Given the description of an element on the screen output the (x, y) to click on. 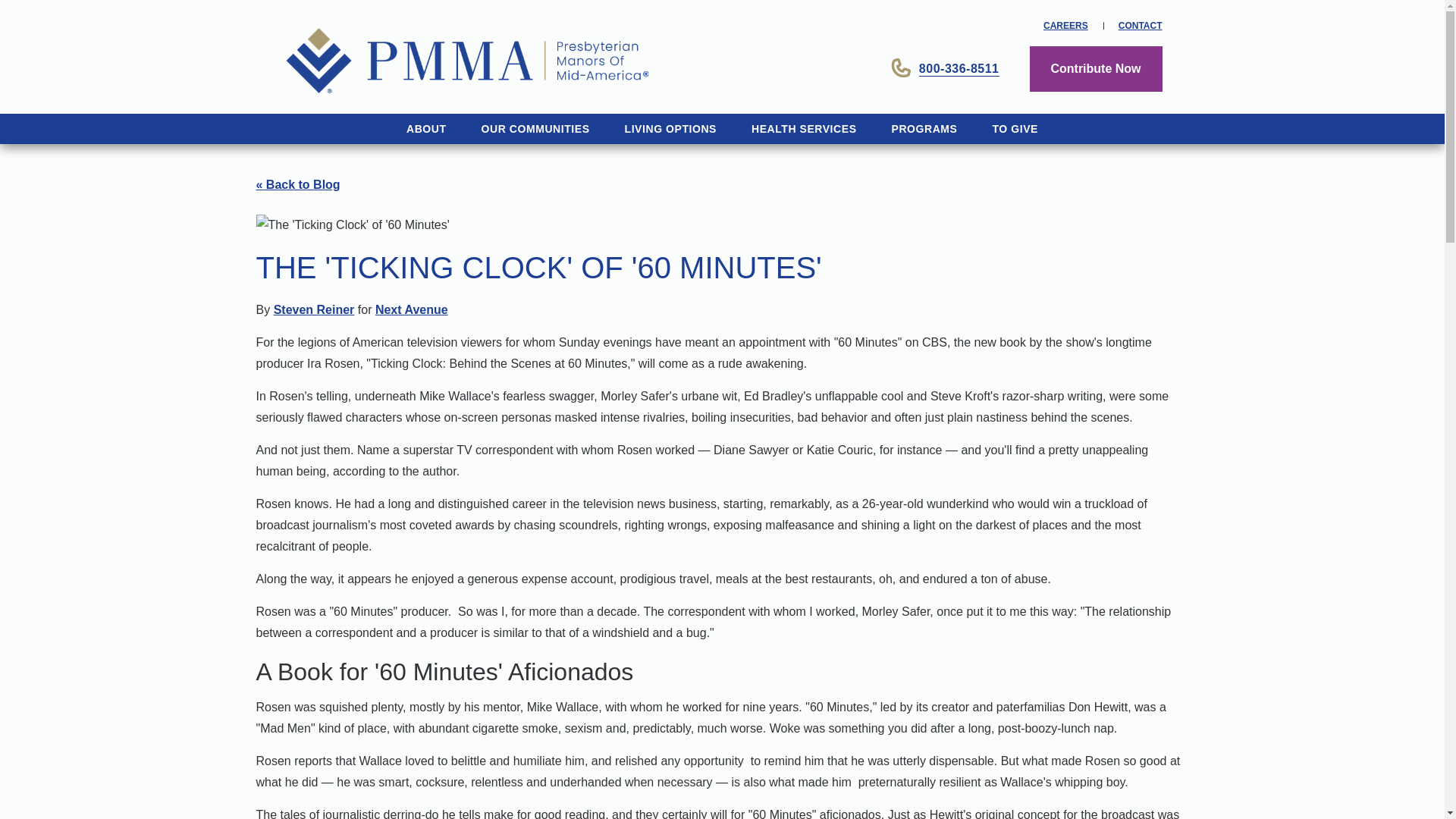
ABOUT (426, 128)
Contribute Now (1095, 68)
CONTACT (1139, 25)
800-336-8511 (944, 68)
CAREERS (1065, 25)
